Given the description of an element on the screen output the (x, y) to click on. 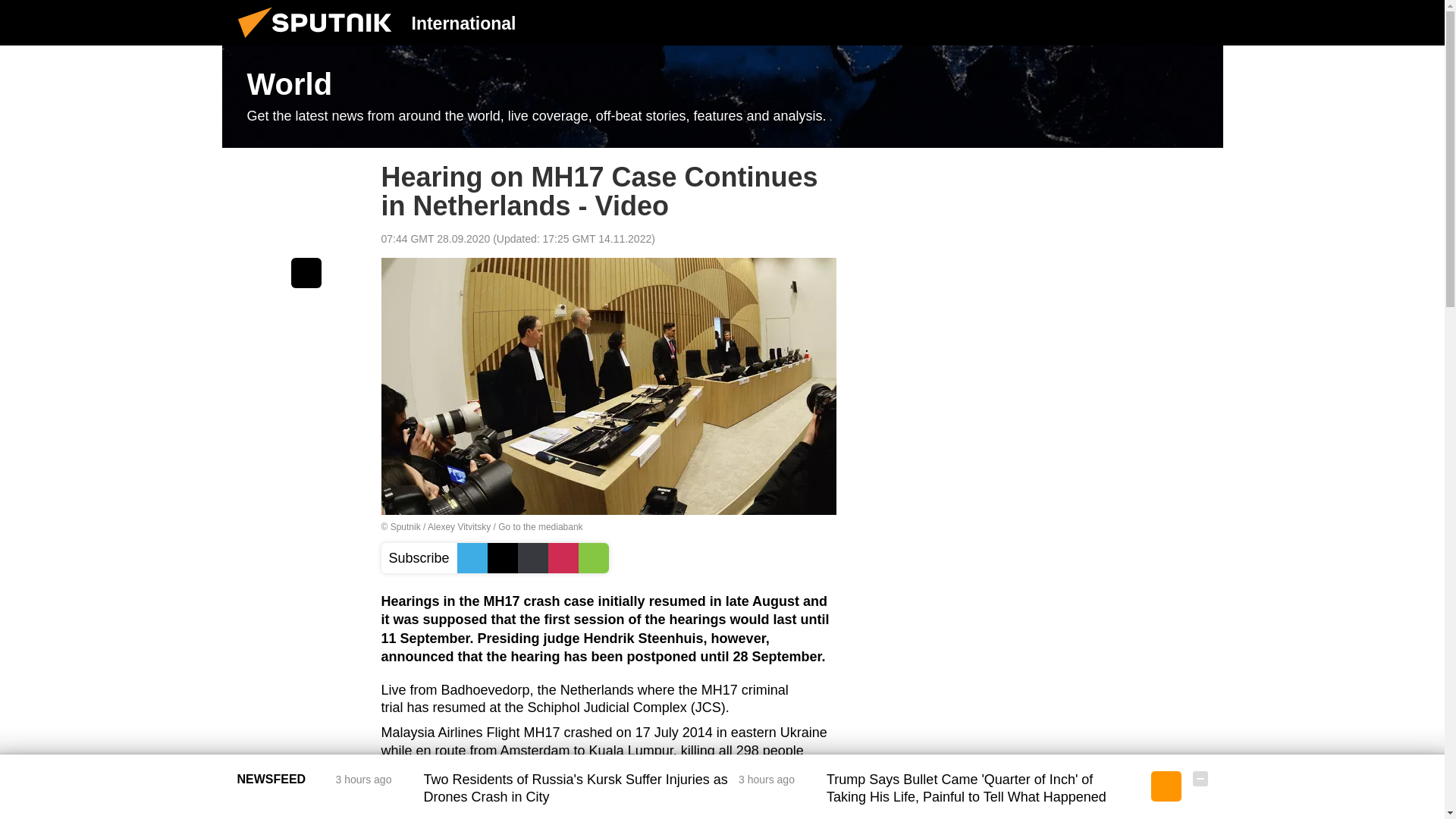
World (722, 96)
Chats (1199, 22)
Sputnik International (319, 41)
Authorization (1123, 22)
